Given the description of an element on the screen output the (x, y) to click on. 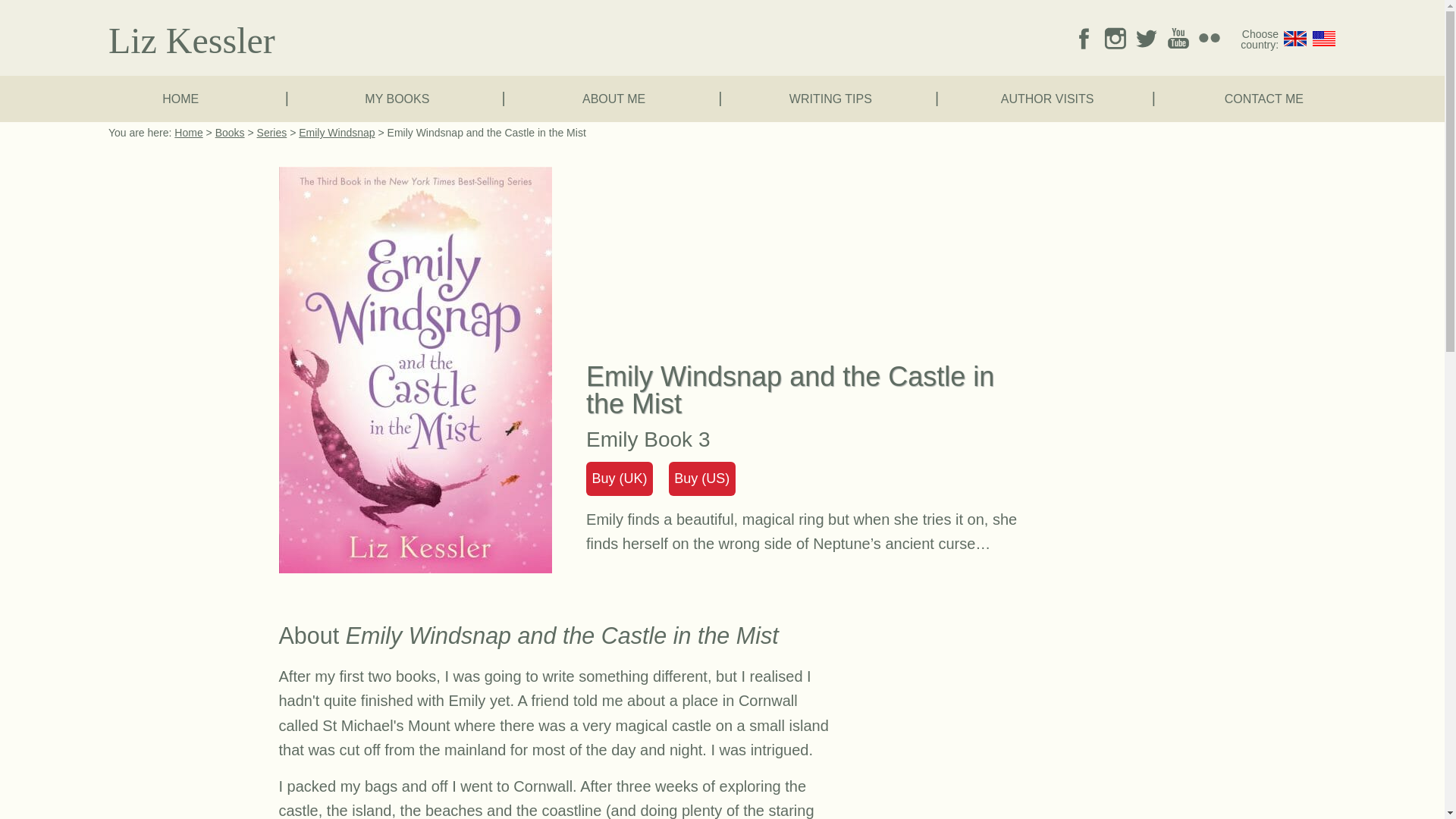
Follow me on Instagram (1114, 37)
Flickr (1208, 37)
Books (229, 132)
Follow me on Flickr (1208, 37)
Emily Windsnap (336, 132)
Twitter (1146, 37)
Liz Kessler (191, 40)
WRITING TIPS (830, 98)
AUTHOR VISITS (1047, 98)
HOME (179, 98)
Facebook (1083, 37)
Liz Kessler (188, 132)
Liz Kessler (191, 40)
CONTACT ME (1264, 98)
Follow me on twitter (1146, 37)
